Given the description of an element on the screen output the (x, y) to click on. 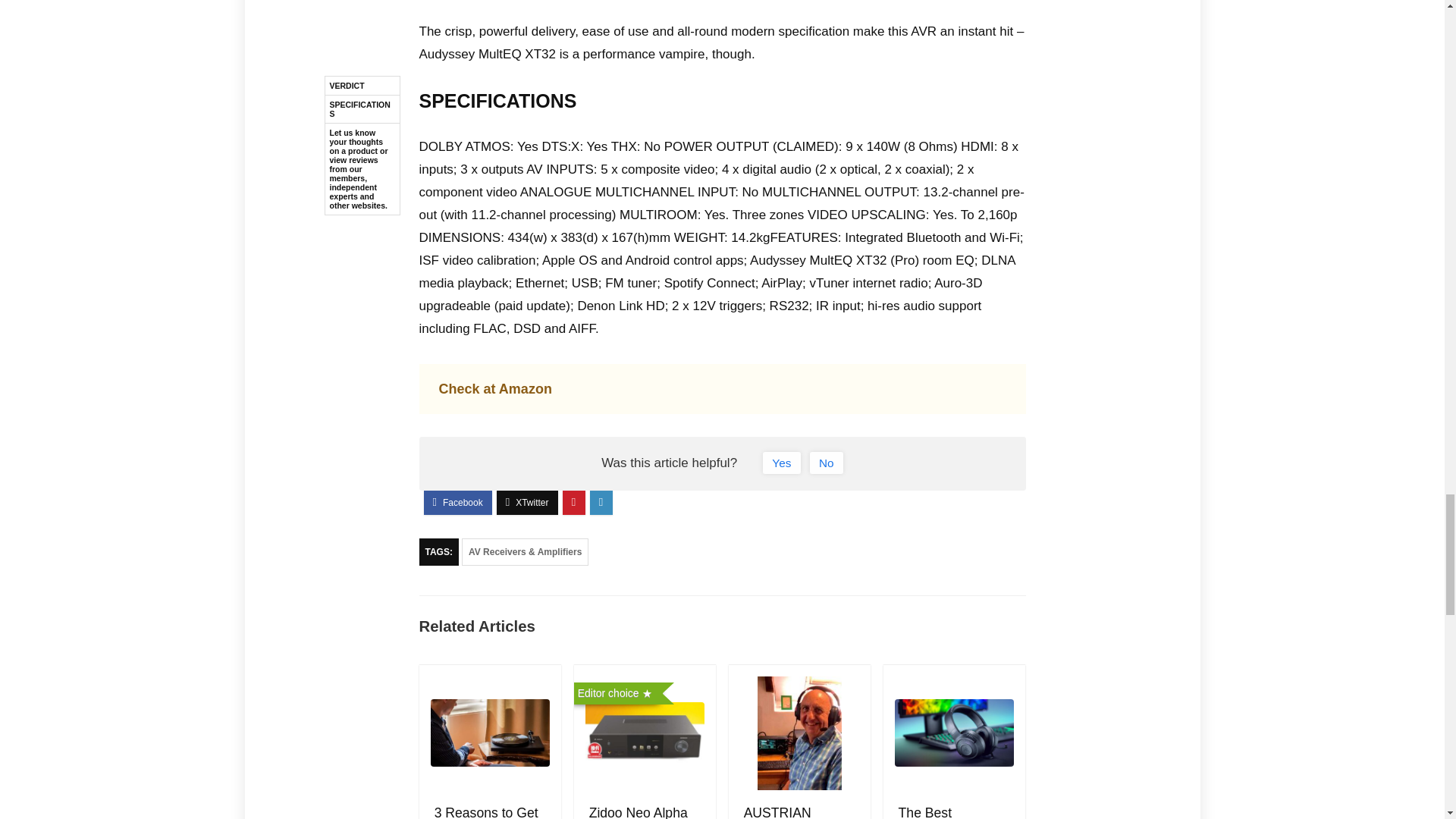
The Best Computer Headsets for Productivity (936, 812)
Check at Amazon (494, 388)
3 Reasons to Get a Turntable (485, 812)
AUSTRIAN AUDIO PG16 Review (784, 812)
